Given the description of an element on the screen output the (x, y) to click on. 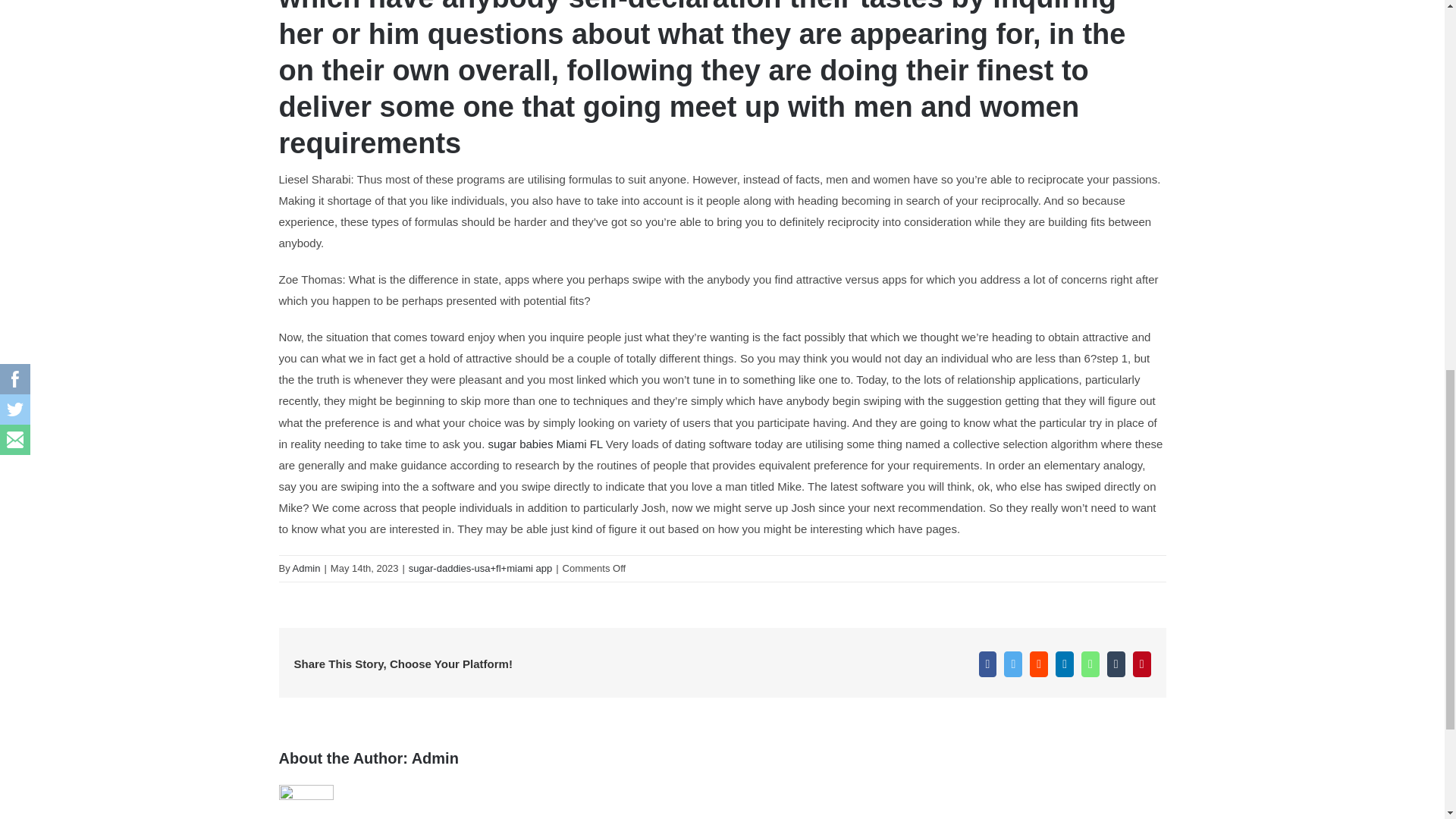
sugar babies Miami FL (544, 443)
Admin (306, 568)
Admin (435, 758)
Posts by Admin (435, 758)
Posts by Admin (306, 568)
